Given the description of an element on the screen output the (x, y) to click on. 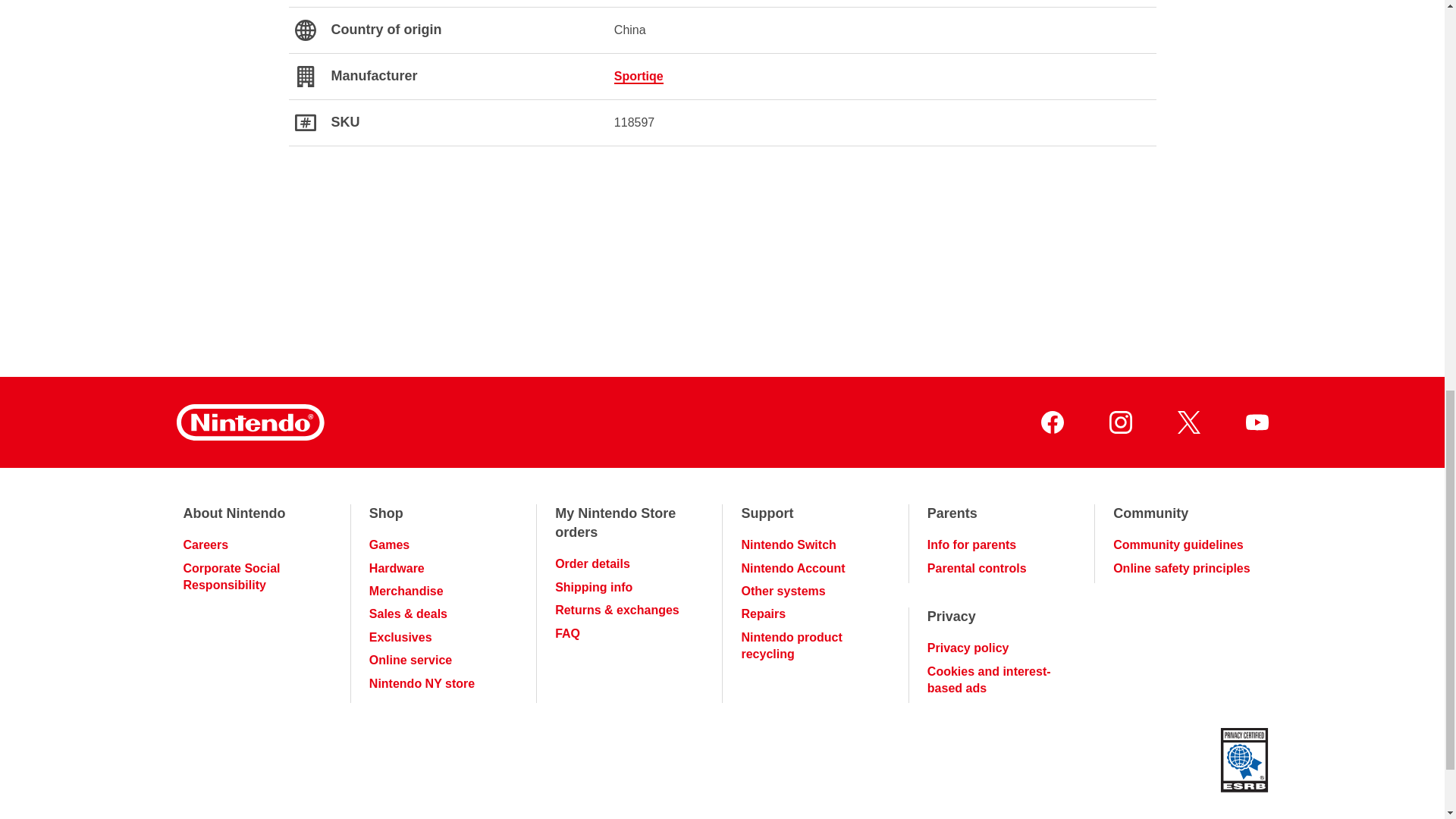
Nintendo on Facebook (1051, 422)
Nintendo on Twitter (1187, 422)
Nintendo on YouTube (1256, 422)
Nintendo Homepage (249, 422)
Nintendo on Instagram (1119, 422)
